Given the description of an element on the screen output the (x, y) to click on. 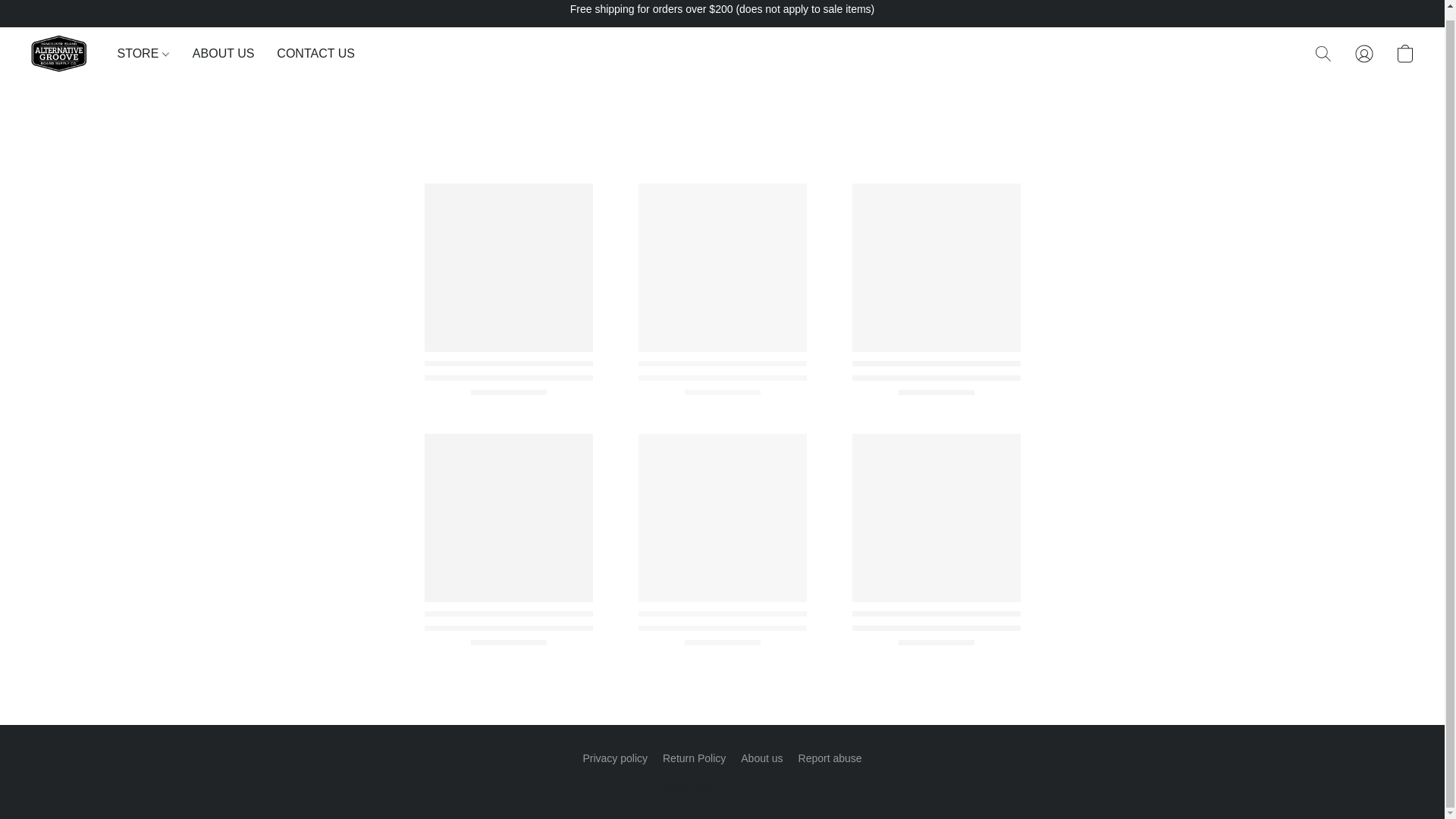
Privacy policy (614, 758)
About us (762, 758)
Made with (721, 785)
Return Policy (693, 758)
CONTACT US (309, 53)
Go to your shopping cart (1404, 53)
ABOUT US (223, 53)
STORE (148, 53)
Report abuse (829, 758)
Search the website (1323, 53)
